Given the description of an element on the screen output the (x, y) to click on. 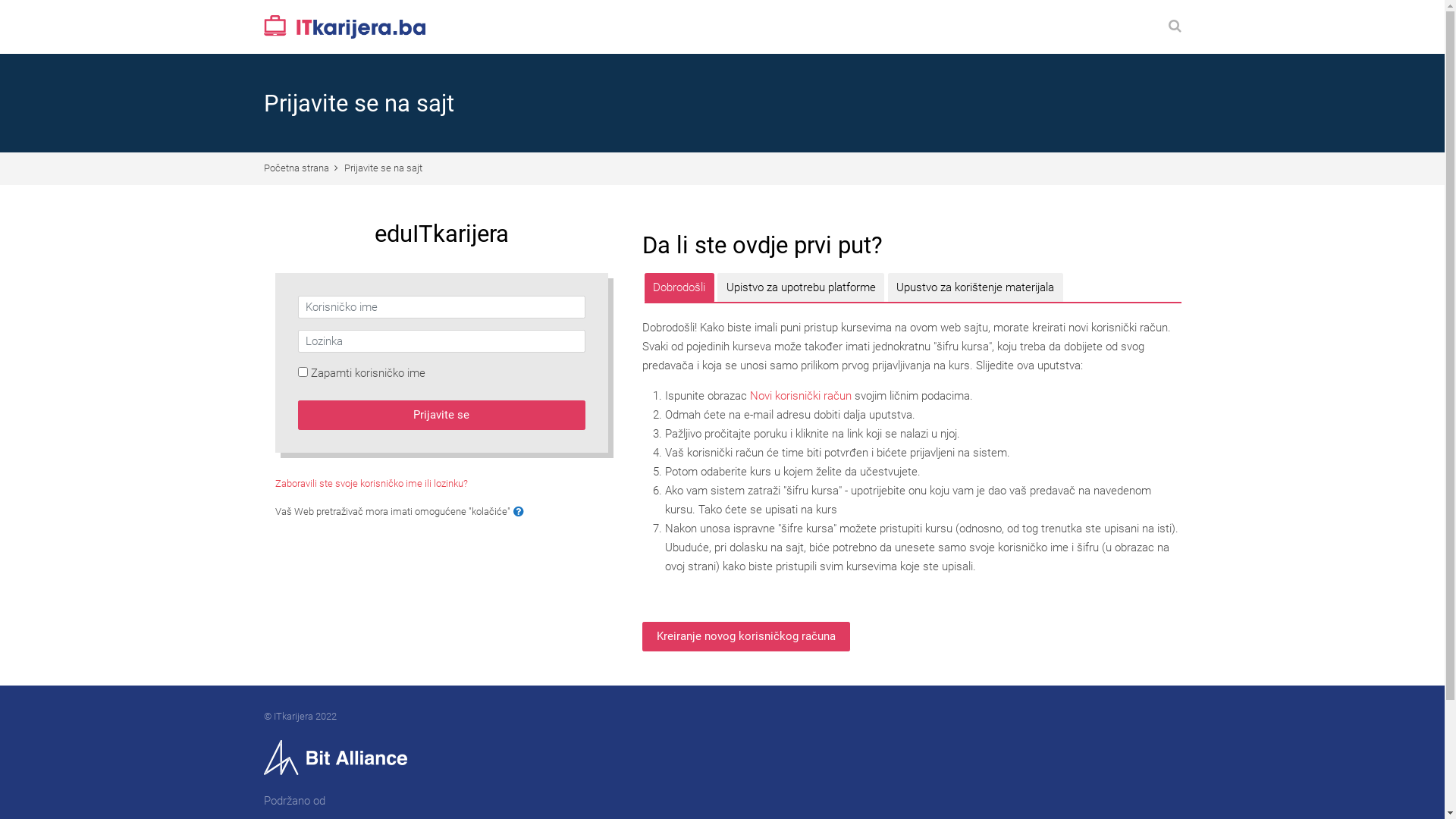
New Learning Element type: hover (344, 26)
Prijavite se Element type: text (440, 414)
Pretraga Element type: hover (1173, 26)
Upistvo za upotrebu platforme Element type: text (800, 287)
